Given the description of an element on the screen output the (x, y) to click on. 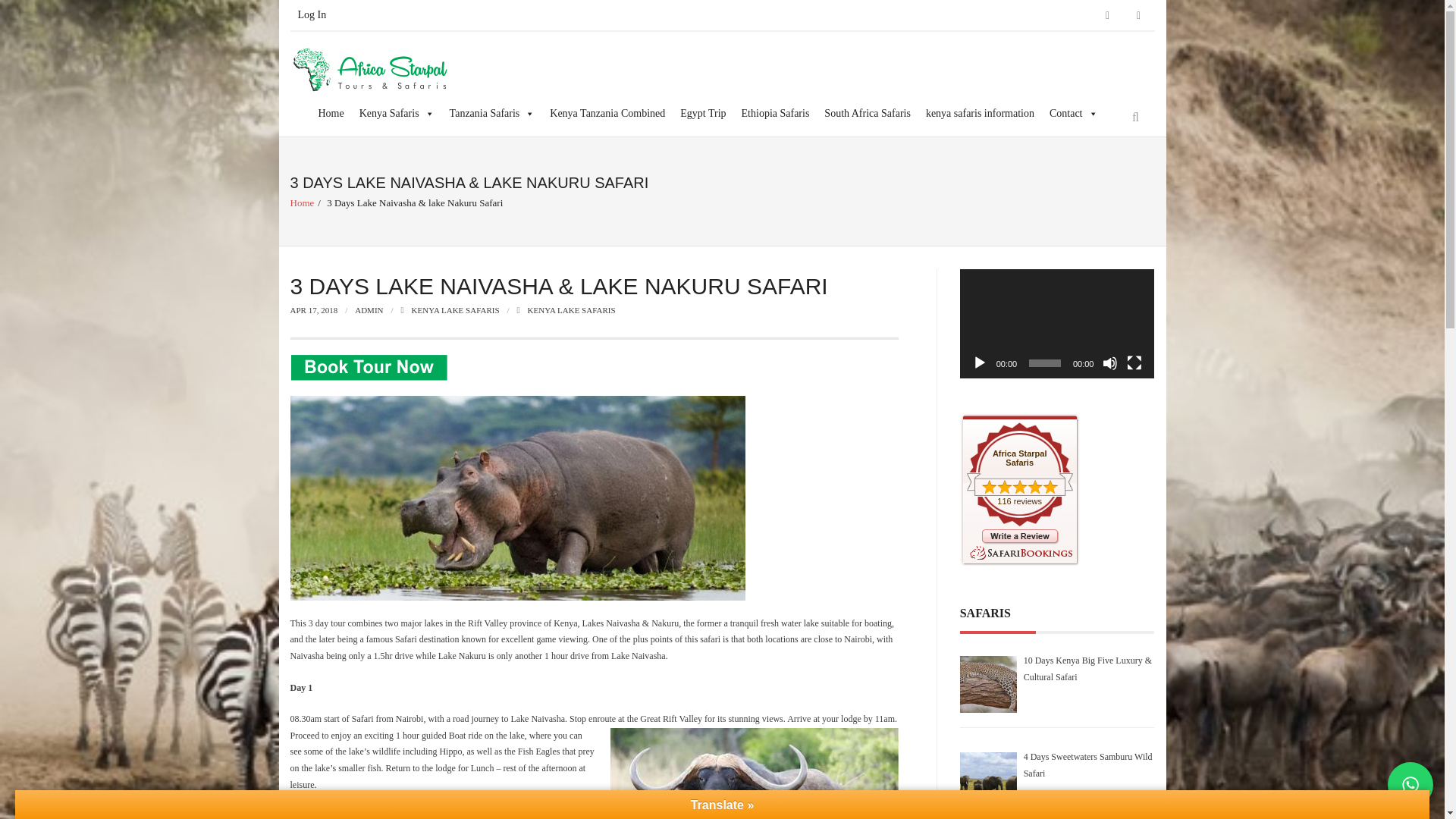
Contact (1073, 113)
Home (330, 113)
Fullscreen (1133, 363)
kenya safaris information (980, 113)
Mute (1110, 363)
Play (979, 363)
Kenya Safaris (397, 113)
Kenya Tanzania Combined (606, 113)
Log In (311, 15)
Search (33, 15)
View all posts by admin (368, 309)
South Africa Safaris (867, 113)
Ethiopia Safaris (774, 113)
Egypt Trip (702, 113)
Tanzania Safaris (492, 113)
